Given the description of an element on the screen output the (x, y) to click on. 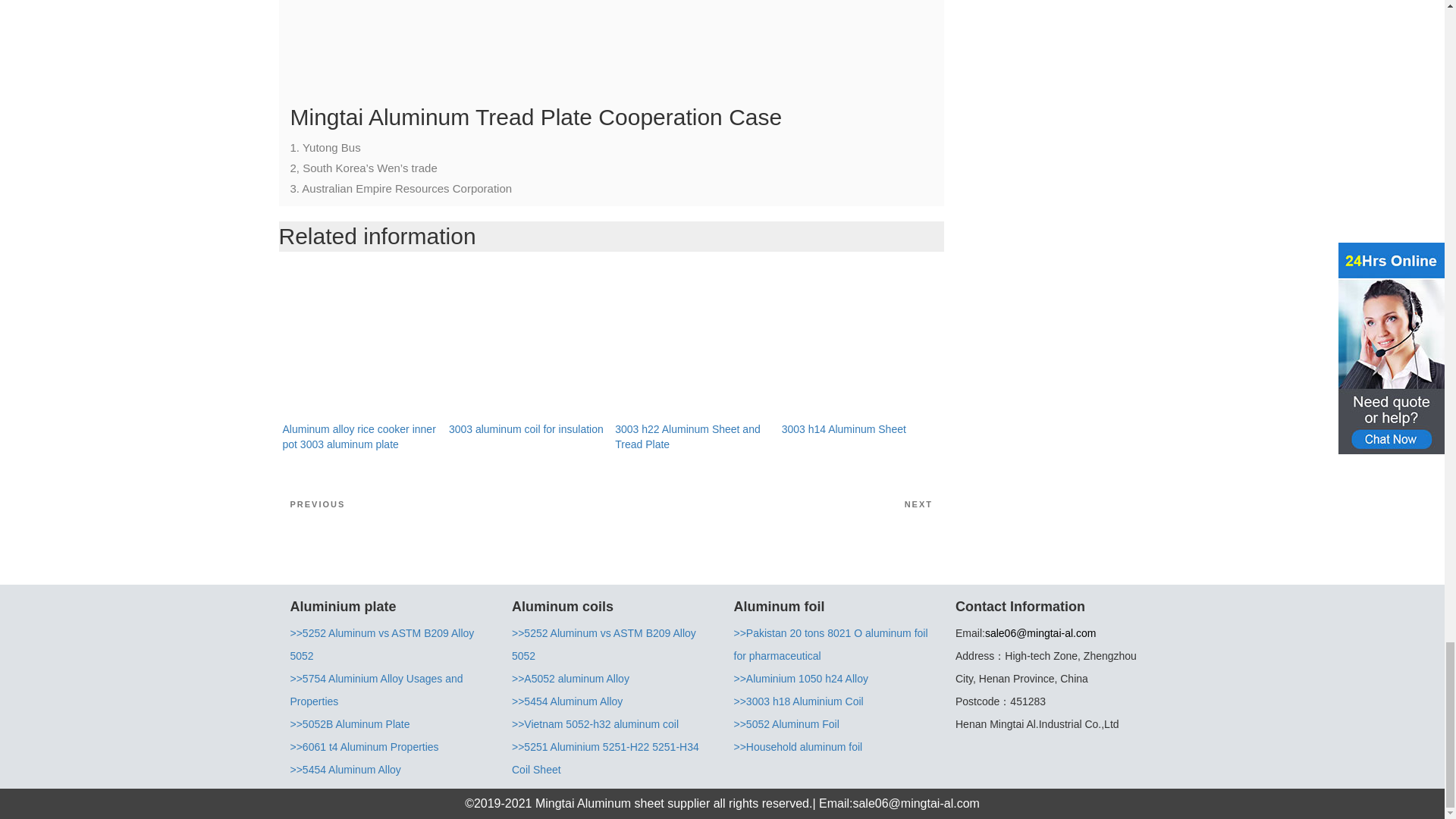
3003 h22 Aluminum Sheet and Tread Plate (693, 341)
Aluminum alloy rice cooker inner pot 3003 aluminum plate (358, 436)
3003 h22 Aluminum Sheet and Tread Plate (687, 436)
3003 aluminum coil for insulation (527, 341)
3003 h22 Aluminum Sheet and Tread Plate (687, 436)
3003 h14 Aluminum Sheet (860, 341)
3003 h14 Aluminum Sheet (843, 428)
Aluminum alloy rice cooker inner pot 3003 aluminum plate (361, 341)
3003 aluminum coil for insulation (526, 428)
3003 aluminum coil for insulation (526, 428)
